Given the description of an element on the screen output the (x, y) to click on. 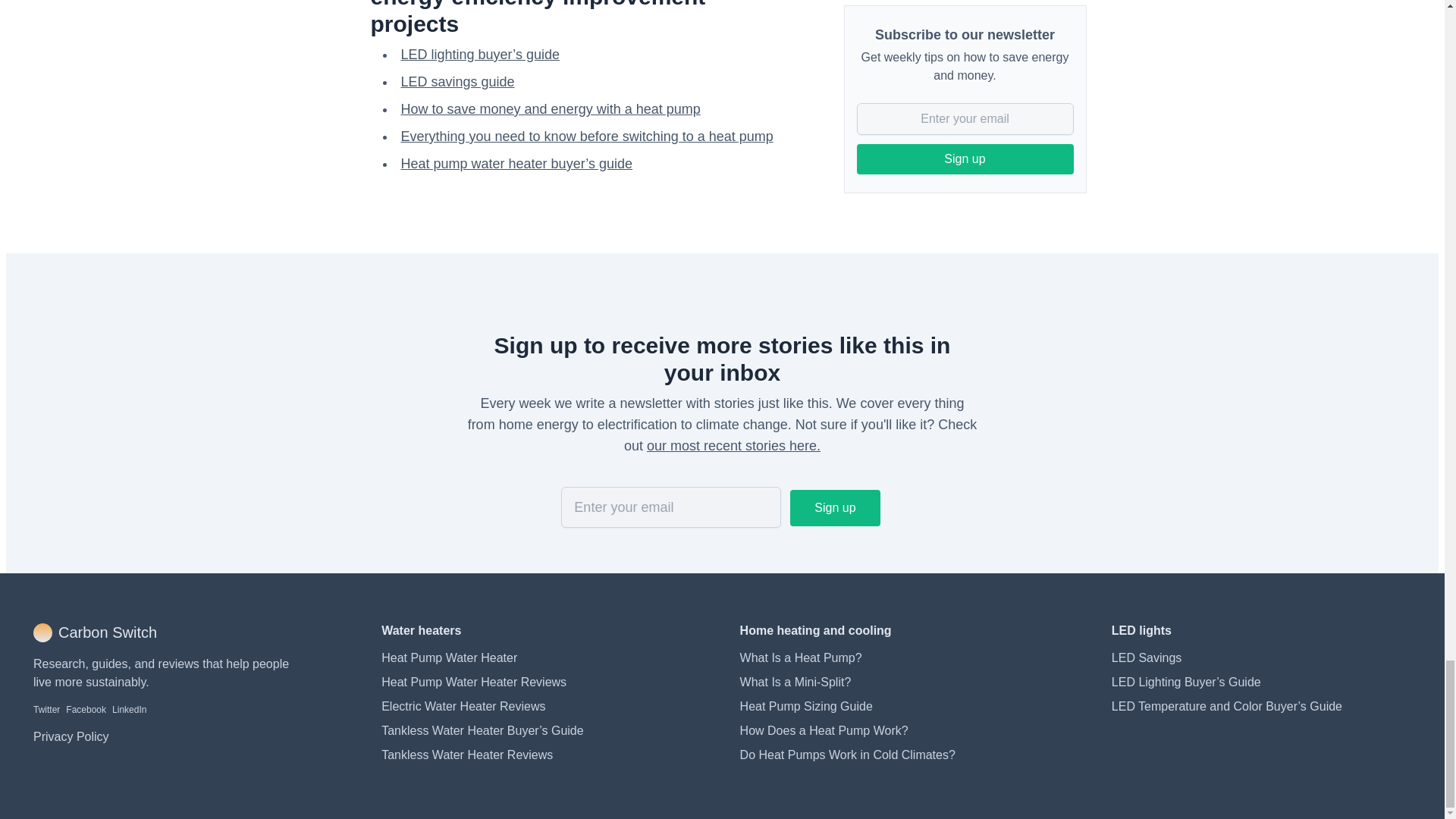
Twitter (46, 709)
What Is a Heat Pump? (800, 657)
Sign up (834, 507)
Heat Pump Water Heater (448, 657)
Tankless Water Heater Reviews (467, 754)
Facebook (85, 709)
LinkedIn (129, 709)
How to save money and energy with a heat pump (550, 109)
Heat Pump Water Heater Reviews (473, 681)
our most recent stories here. (733, 445)
Everything you need to know before switching to a heat pump (586, 136)
Electric Water Heater Reviews (462, 706)
LED savings guide (456, 81)
Privacy Policy (71, 737)
